Given the description of an element on the screen output the (x, y) to click on. 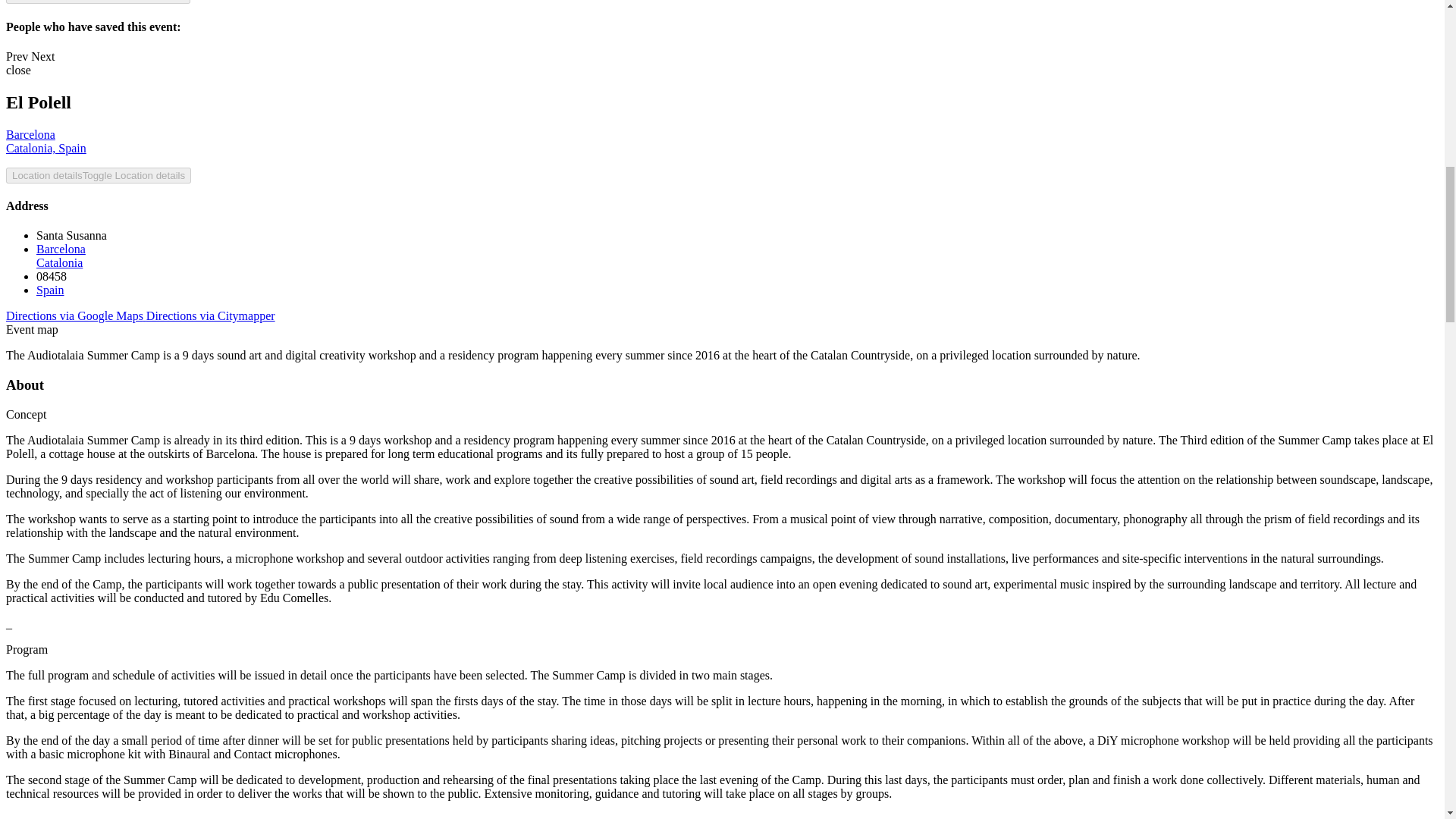
Spain (50, 289)
close (17, 69)
Next (60, 255)
Directions via Citymapper (42, 56)
Prev (45, 140)
Location detailsToggle Location details (211, 315)
Directions via Google Maps (16, 56)
